Given the description of an element on the screen output the (x, y) to click on. 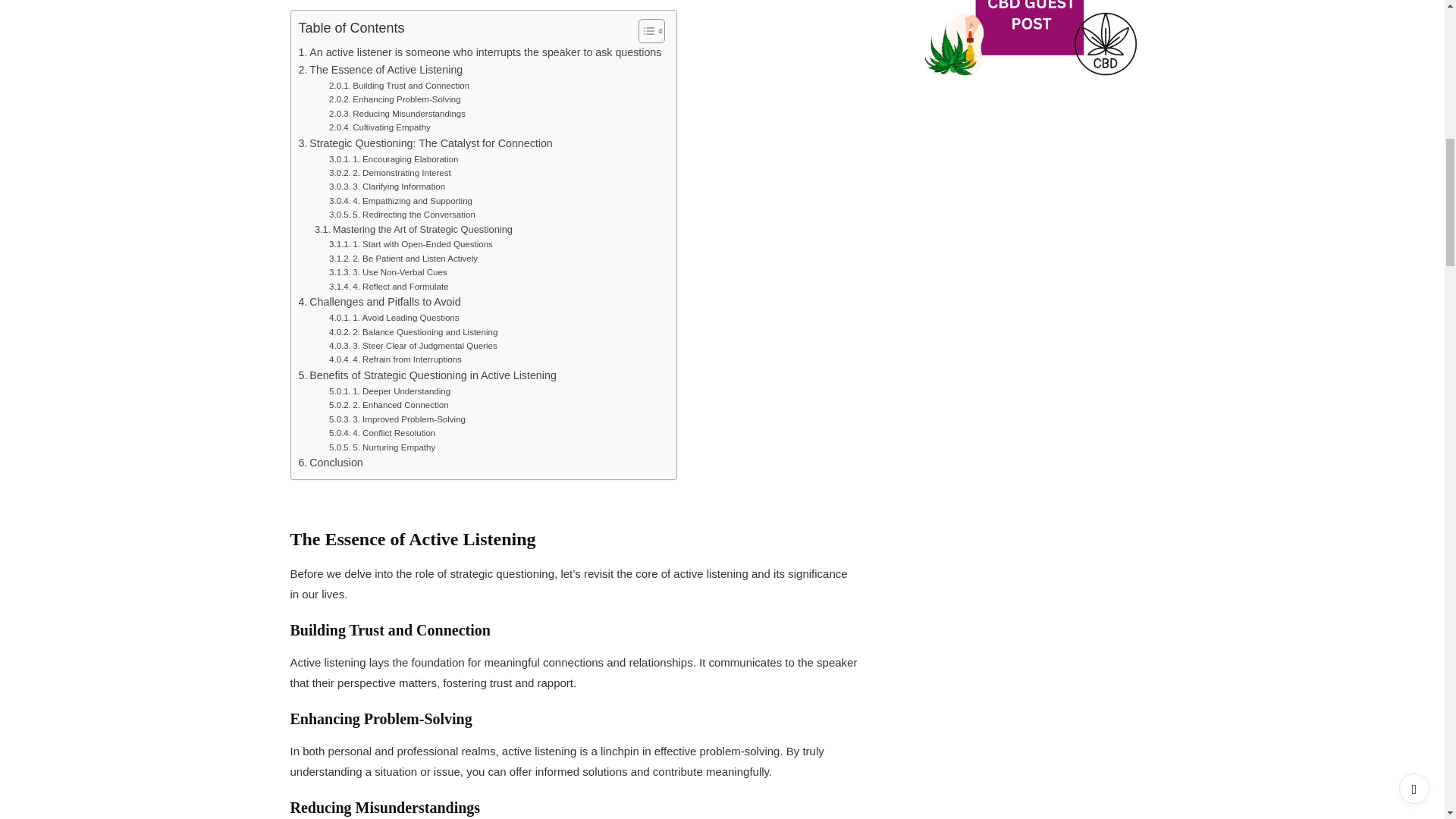
3. Clarifying Information (387, 186)
Strategic Questioning: The Catalyst for Connection (425, 143)
1. Deeper Understanding (389, 391)
4. Empathizing and Supporting (400, 201)
Reducing Misunderstandings (397, 113)
The Essence of Active Listening (380, 69)
Enhancing Problem-Solving (394, 99)
2. Be Patient and Listen Actively (403, 258)
Building Trust and Connection (398, 85)
